Given the description of an element on the screen output the (x, y) to click on. 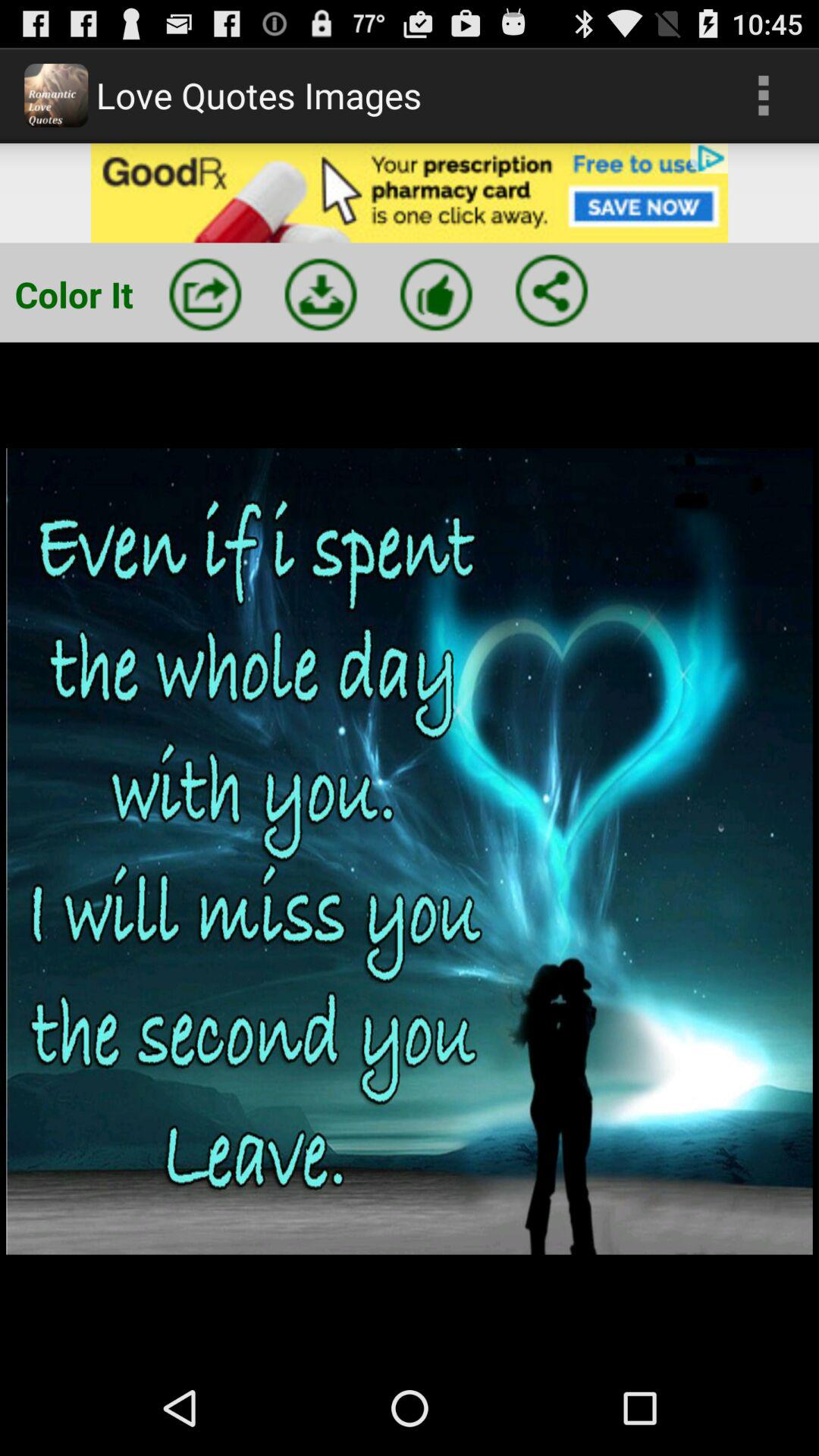
share the image (551, 290)
